Given the description of an element on the screen output the (x, y) to click on. 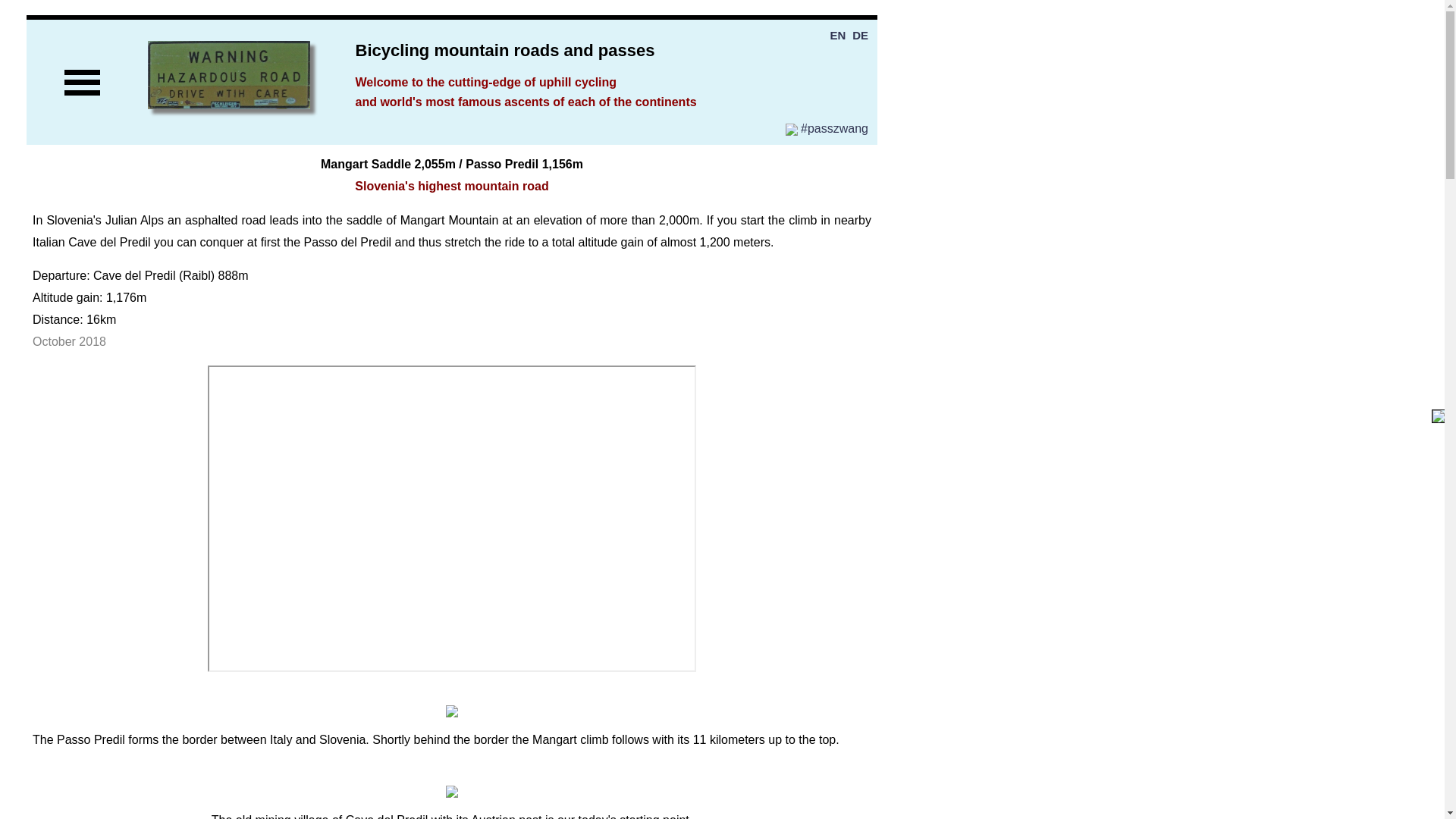
DE (859, 34)
